Given the description of an element on the screen output the (x, y) to click on. 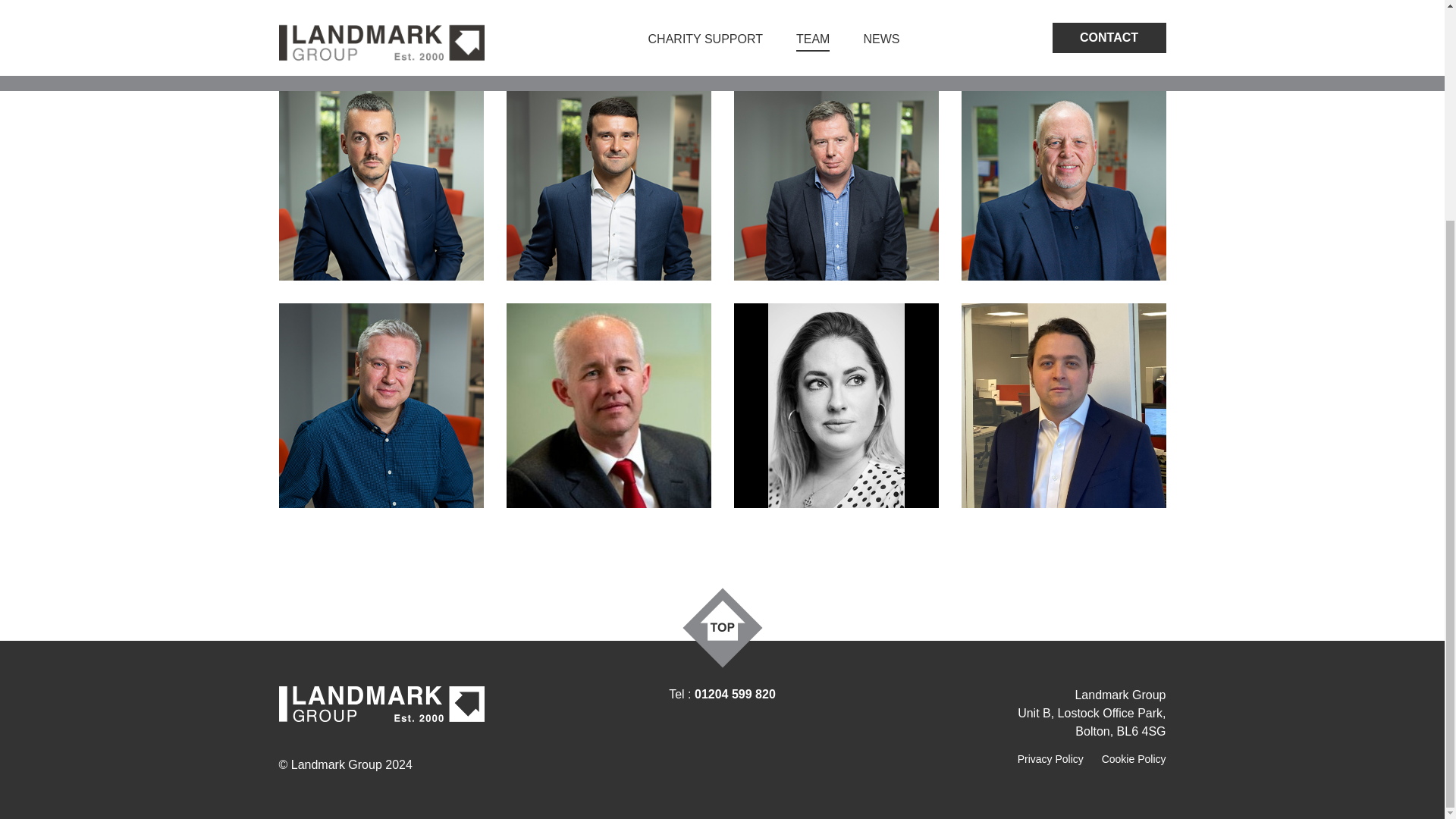
01204 599 820 (735, 694)
Cookie Policy (1134, 759)
Privacy Policy (1050, 759)
